Given the description of an element on the screen output the (x, y) to click on. 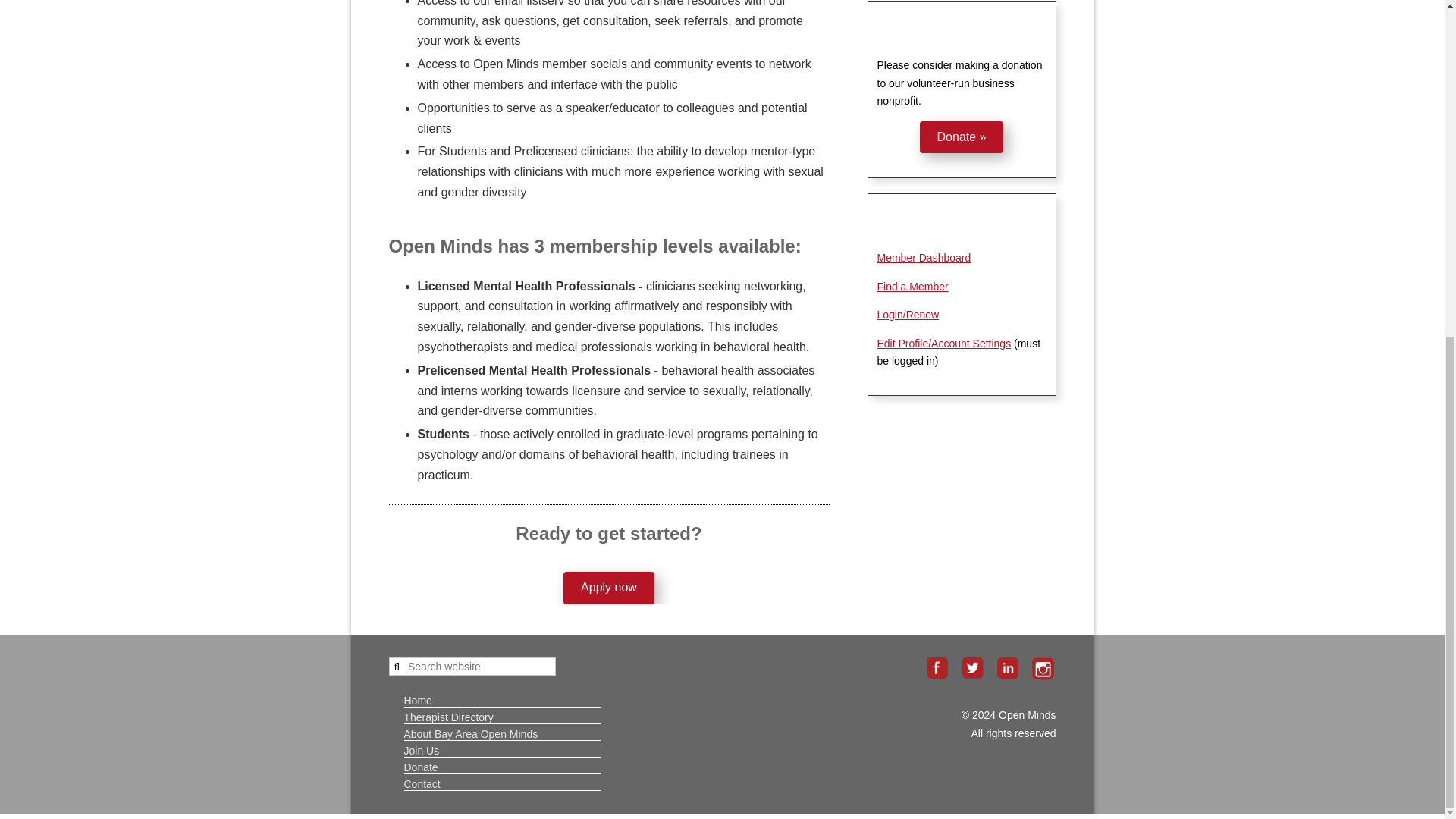
Apply now (608, 587)
Find a Member (911, 286)
About Bay Area Open Minds (470, 733)
Home (416, 699)
Therapist Directory (448, 716)
Donate (420, 766)
Contact (421, 783)
Join Us (421, 749)
Member Dashboard (923, 257)
